Given the description of an element on the screen output the (x, y) to click on. 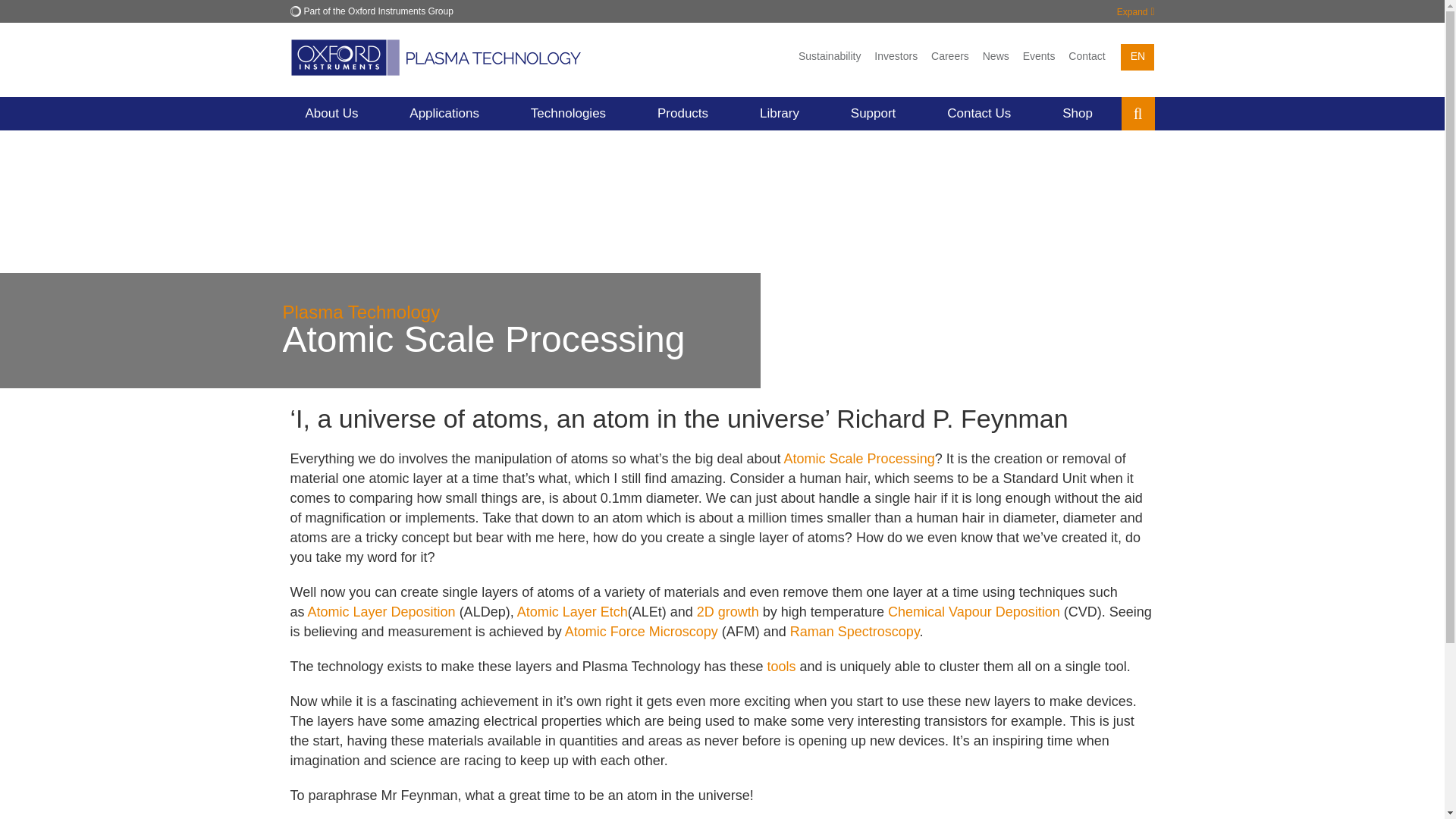
Investors (896, 56)
Contact (1085, 56)
Careers (950, 56)
EN (1137, 57)
Events (1039, 56)
Applications (444, 113)
About Us (330, 113)
News (995, 56)
Sustainability (829, 56)
